Given the description of an element on the screen output the (x, y) to click on. 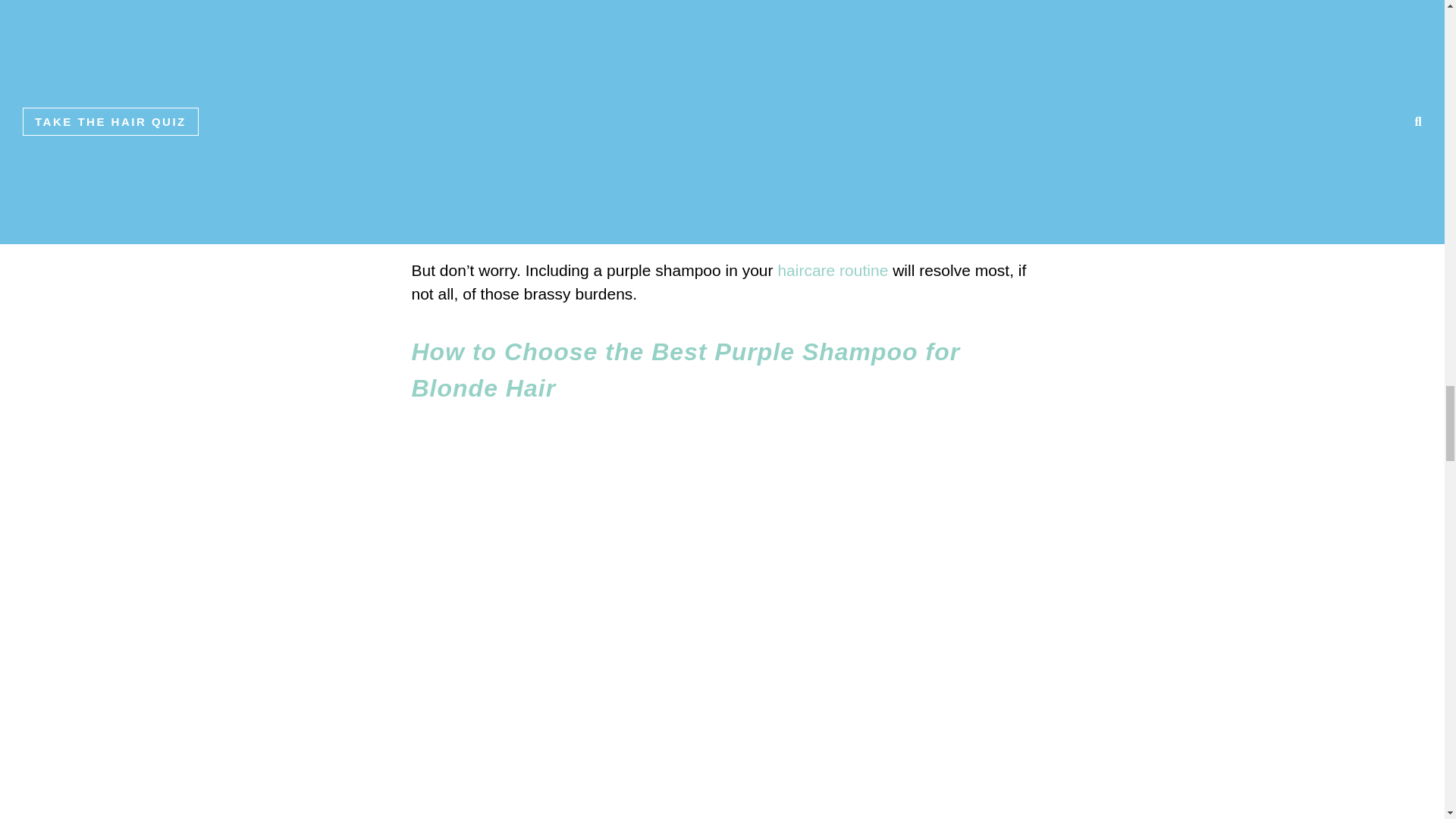
hair-stripping ingredients like sulfates (695, 90)
haircare routine (832, 270)
